Given the description of an element on the screen output the (x, y) to click on. 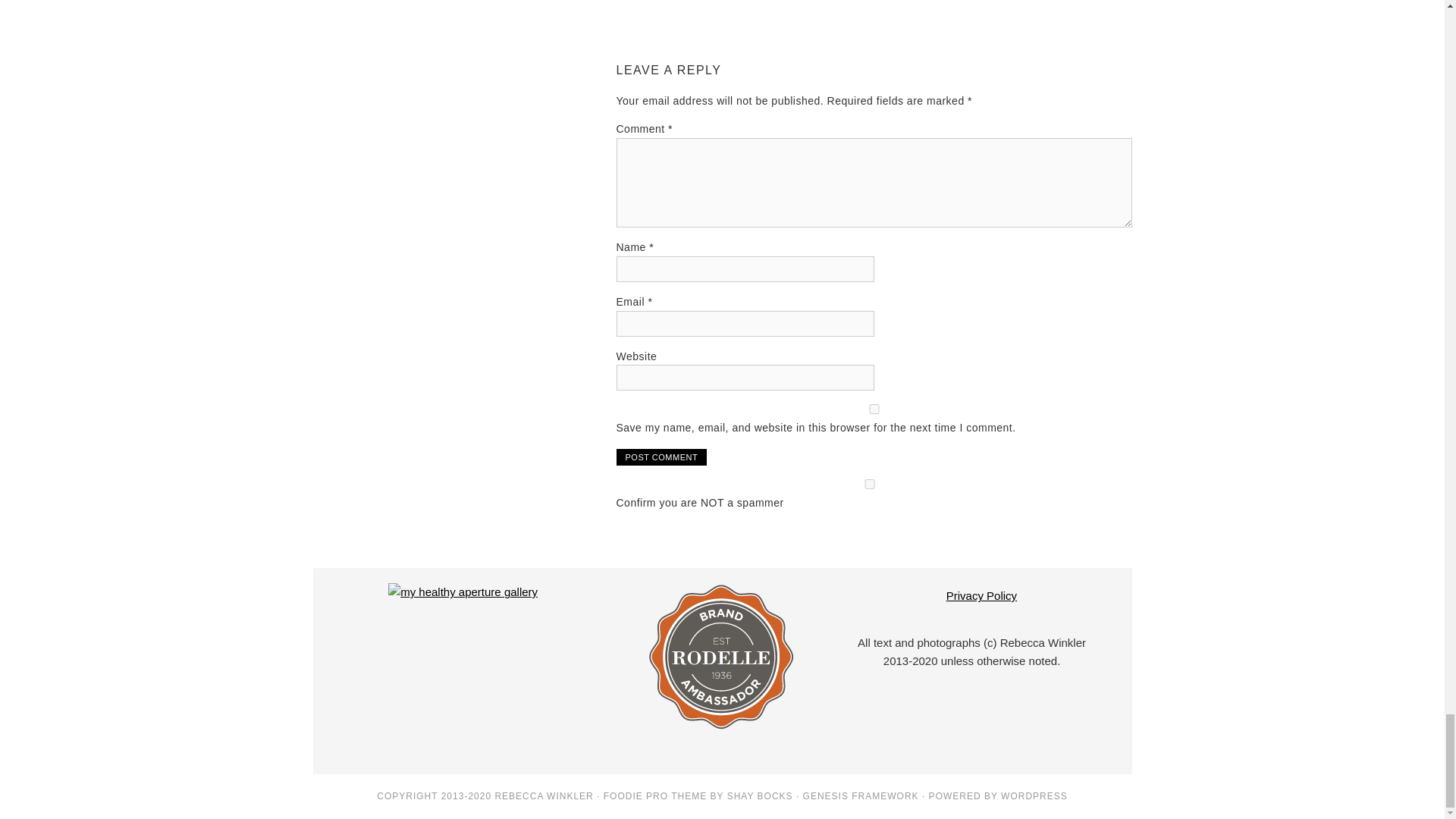
on (868, 483)
my healthy aperture gallery (462, 591)
rodelle (721, 730)
yes (873, 409)
Post Comment (660, 457)
